Given the description of an element on the screen output the (x, y) to click on. 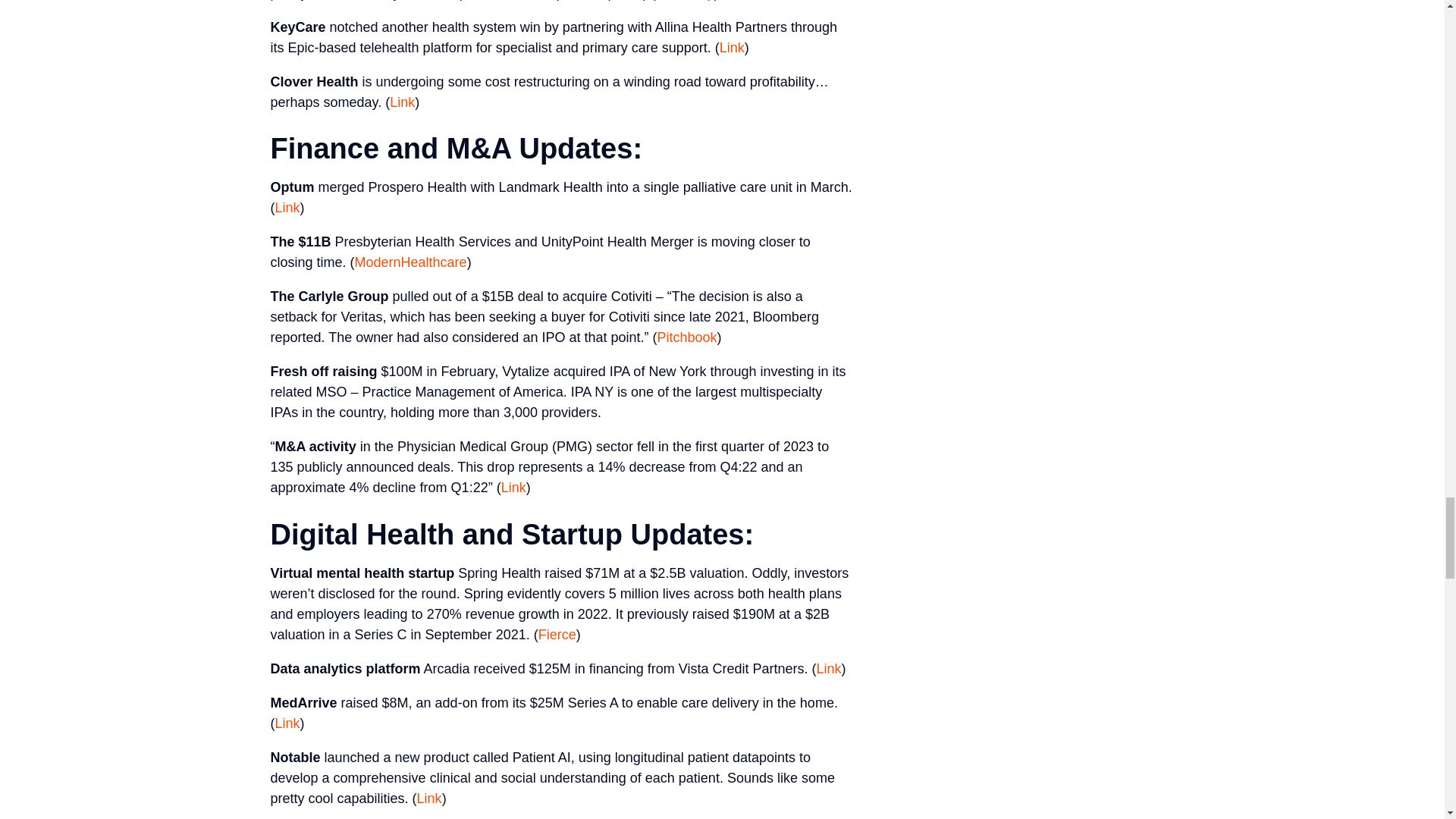
Link (512, 487)
Link (287, 723)
Link (828, 668)
Summary (685, 0)
Pitchbook (686, 337)
Fierce (557, 634)
Link (731, 47)
Link (402, 102)
Link (429, 798)
ModernHealthcare (411, 262)
Link (287, 207)
